Given the description of an element on the screen output the (x, y) to click on. 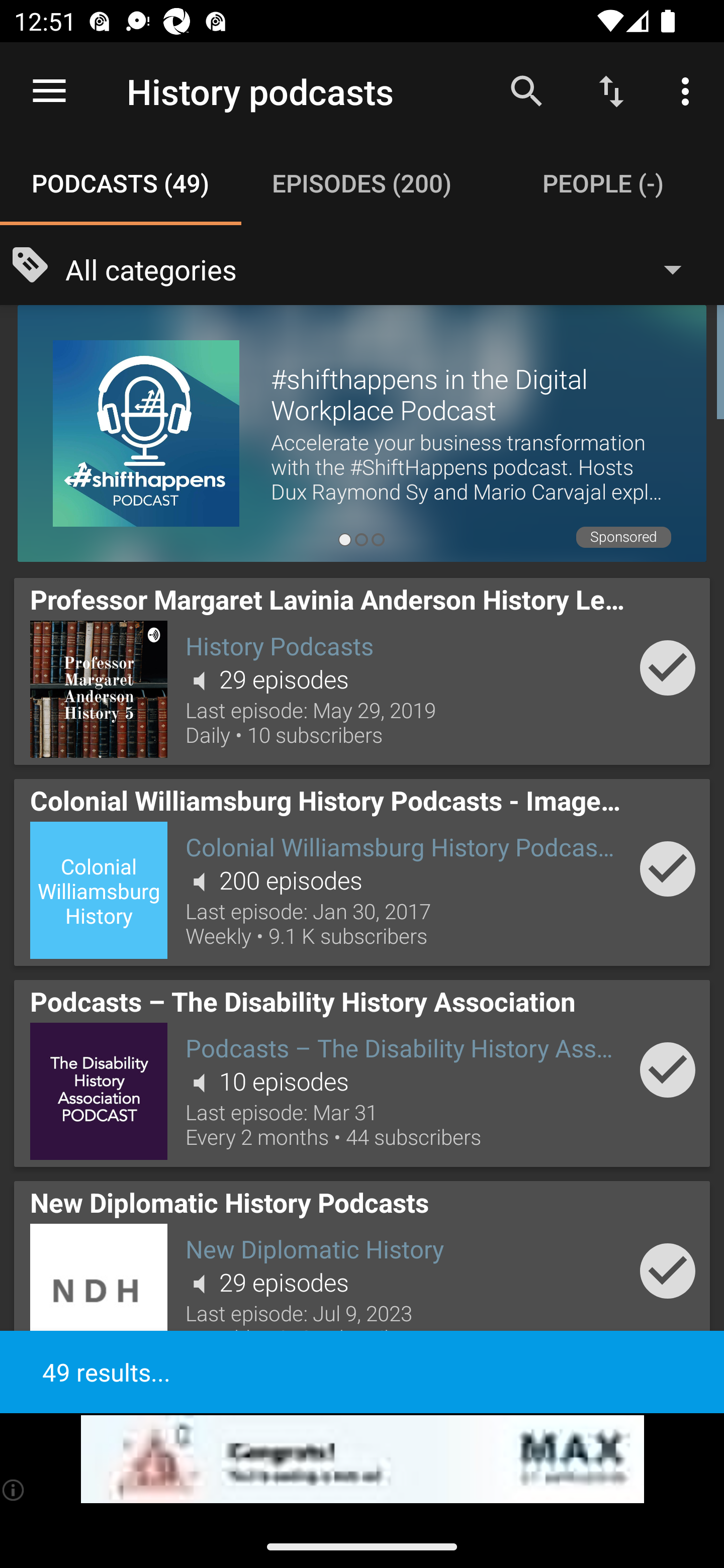
Open navigation sidebar (49, 91)
Search (526, 90)
Sort (611, 90)
More options (688, 90)
Episodes (200) EPISODES (200) (361, 183)
People (-) PEOPLE (-) (603, 183)
All categories (383, 268)
Add (667, 667)
Add (667, 868)
Add (667, 1069)
Add (667, 1271)
app-monetization (362, 1459)
(i) (14, 1489)
